Given the description of an element on the screen output the (x, y) to click on. 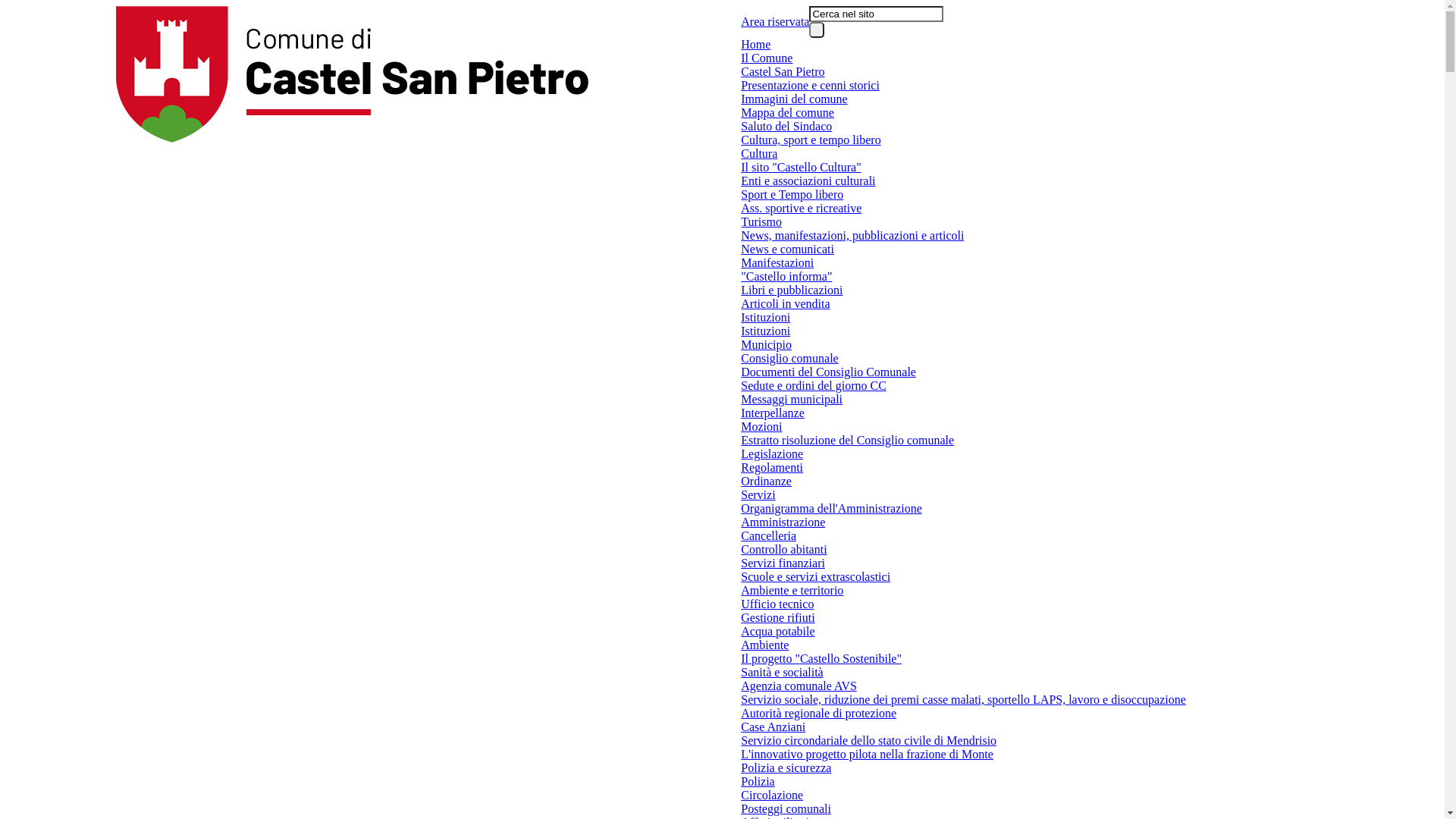
Articoli in vendita Element type: text (784, 303)
Posteggi comunali Element type: text (785, 808)
Organigramma dell'Amministrazione Element type: text (831, 508)
Messaggi municipali Element type: text (791, 399)
Polizia e sicurezza Element type: text (785, 768)
Agenzia comunale AVS Element type: text (798, 686)
  Element type: text (816, 29)
Polizia Element type: text (757, 781)
Area riservata Element type: text (774, 21)
Consiglio comunale Element type: text (788, 358)
Servizio circondariale dello stato civile di Mendrisio Element type: text (868, 740)
Cultura Element type: text (758, 153)
Ufficio tecnico Element type: text (776, 604)
Documenti del Consiglio Comunale Element type: text (828, 372)
Castel San Pietro Element type: text (782, 71)
Interpellanze Element type: text (772, 413)
Immagini del comune Element type: text (793, 99)
Mappa del comune Element type: text (787, 112)
Estratto risoluzione del Consiglio comunale Element type: text (846, 440)
Ass. sportive e ricreative Element type: text (800, 208)
Gestione rifiuti Element type: text (777, 617)
News, manifestazioni, pubblicazioni e articoli Element type: text (851, 235)
Legislazione Element type: text (771, 454)
Sedute e ordini del giorno CC Element type: text (813, 385)
Istituzioni Element type: text (765, 317)
Cancelleria Element type: text (768, 535)
Amministrazione Element type: text (782, 522)
Libri e pubblicazioni Element type: text (791, 290)
Case Anziani Element type: text (772, 727)
Ambiente e territorio Element type: text (791, 590)
Il Comune Element type: text (766, 58)
Manifestazioni Element type: text (776, 262)
Vai alla home Element type: hover (351, 74)
Istituzioni Element type: text (765, 331)
Ambiente Element type: text (764, 645)
Regolamenti Element type: text (771, 467)
Scuole e servizi extrascolastici Element type: text (815, 576)
Sport e Tempo libero Element type: text (791, 194)
Il progetto "Castello Sostenibile" Element type: text (820, 658)
Ordinanze Element type: text (765, 481)
Acqua potabile Element type: text (777, 631)
Home Element type: text (755, 44)
Turismo Element type: text (760, 222)
News e comunicati Element type: text (787, 249)
Mozioni Element type: text (760, 426)
Controllo abitanti Element type: text (783, 549)
Cultura, sport e tempo libero Element type: text (810, 140)
Servizi finanziari Element type: text (782, 563)
Enti e associazioni culturali Element type: text (807, 181)
Circolazione Element type: text (771, 795)
Presentazione e cenni storici Element type: text (809, 85)
Saluto del Sindaco Element type: text (785, 126)
Servizi Element type: text (757, 495)
L'innovativo progetto pilota nella frazione di Monte Element type: text (866, 754)
Municipio Element type: text (765, 344)
Il sito "Castello Cultura" Element type: text (800, 167)
"Castello informa" Element type: text (785, 276)
